Given the description of an element on the screen output the (x, y) to click on. 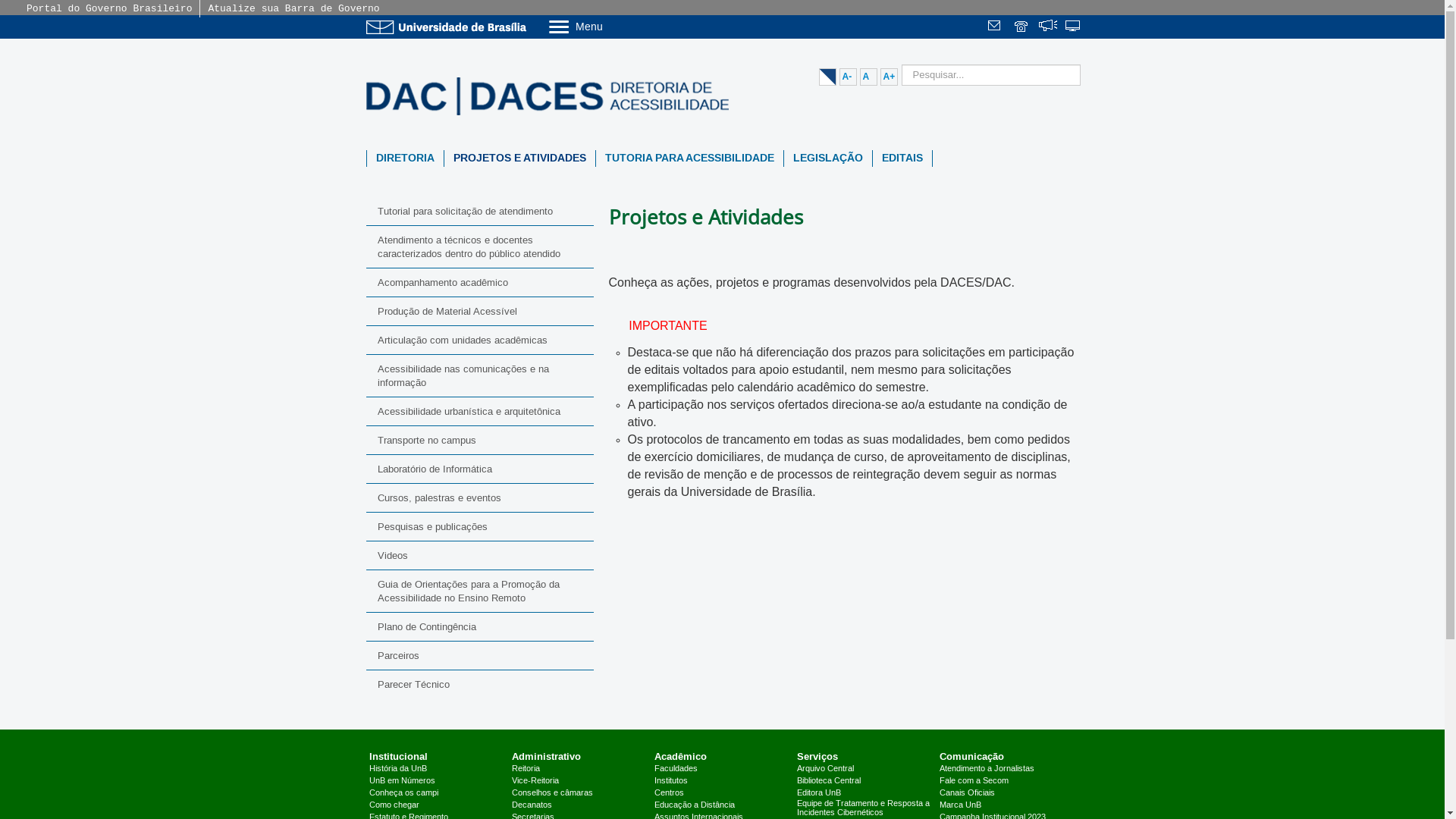
Institutos Element type: text (670, 780)
  Element type: text (1073, 27)
A Element type: text (868, 76)
TUTORIA PARA ACESSIBILIDADE Element type: text (689, 158)
Decanatos Element type: text (531, 804)
EDITAIS Element type: text (901, 158)
Arquivo Central Element type: text (825, 768)
  Element type: text (996, 27)
Canais Oficiais Element type: text (966, 792)
A+ Element type: text (888, 76)
Transporte no campus Element type: text (479, 440)
Fale com a Secom Element type: text (973, 780)
DIRETORIA Element type: text (405, 158)
Sistemas Element type: hover (1073, 27)
Atendimento a Jornalistas Element type: text (986, 768)
Telefones da UnB Element type: hover (1022, 27)
  Element type: text (1047, 27)
Marca UnB Element type: text (960, 804)
PROJETOS E ATIVIDADES Element type: text (519, 158)
Faculdades Element type: text (675, 768)
Cursos, palestras e eventos Element type: text (479, 497)
Menu Element type: text (613, 25)
Parceiros Element type: text (479, 655)
Centros Element type: text (669, 792)
Atualize sua Barra de Governo Element type: text (293, 8)
Ir para o Portal da UnB Element type: hover (448, 26)
Videos Element type: text (479, 555)
Vice-Reitoria Element type: text (534, 780)
Webmail Element type: hover (996, 27)
Portal do Governo Brasileiro Element type: text (108, 8)
Fala.BR Element type: hover (1047, 27)
Reitoria Element type: text (525, 768)
A- Element type: text (847, 76)
Editora UnB Element type: text (818, 792)
Como chegar Element type: text (394, 804)
  Element type: text (1022, 27)
Biblioteca Central Element type: text (828, 780)
